Given the description of an element on the screen output the (x, y) to click on. 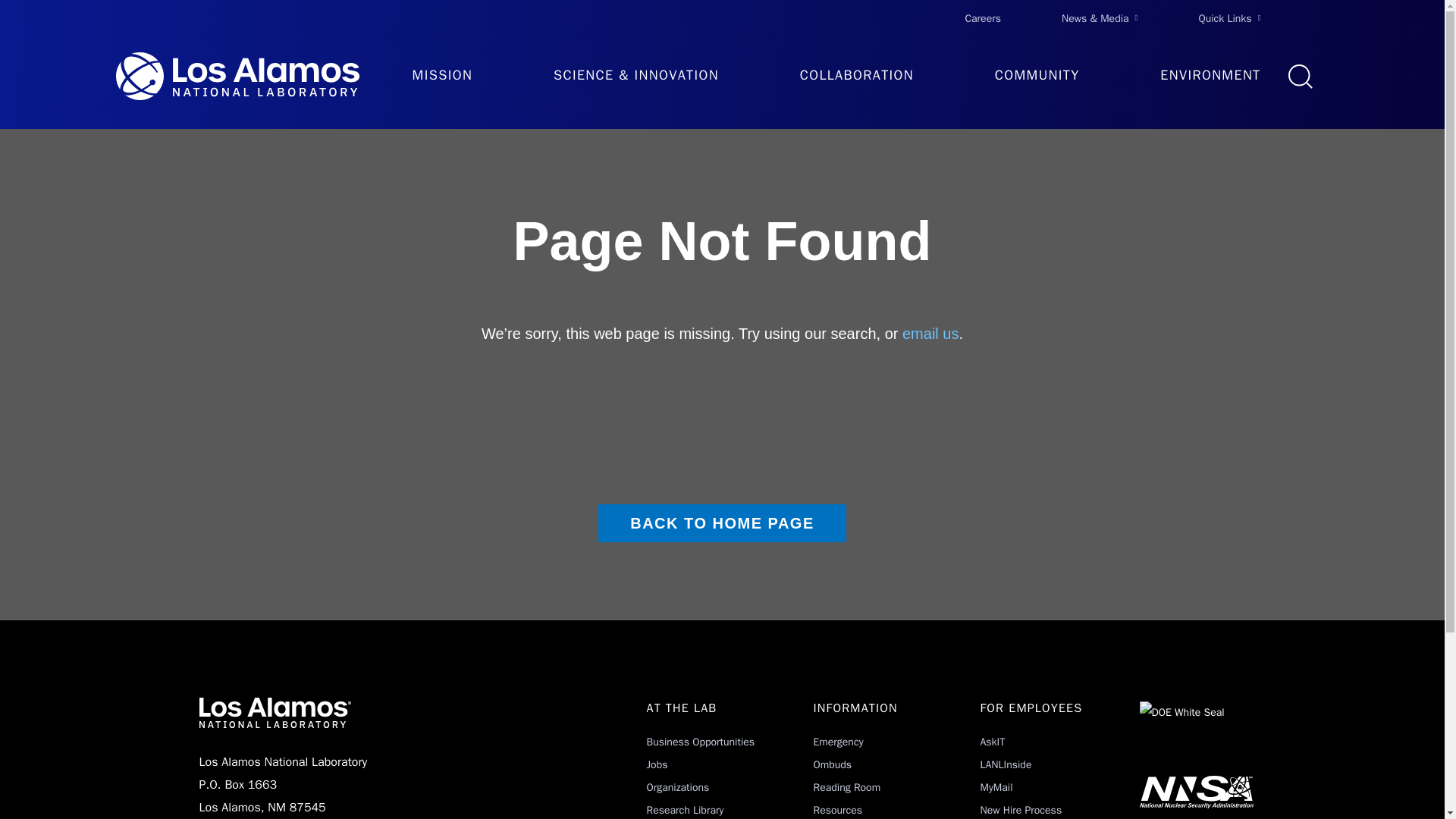
Careers (982, 18)
AskIT (991, 741)
Resources (836, 809)
Jobs (656, 764)
Organizations (677, 787)
Research Library (684, 809)
BACK TO HOME PAGE (721, 523)
Ombuds (831, 764)
Business Opportunities (700, 741)
email us (930, 333)
Emergency (837, 741)
Reading Room (846, 787)
